Given the description of an element on the screen output the (x, y) to click on. 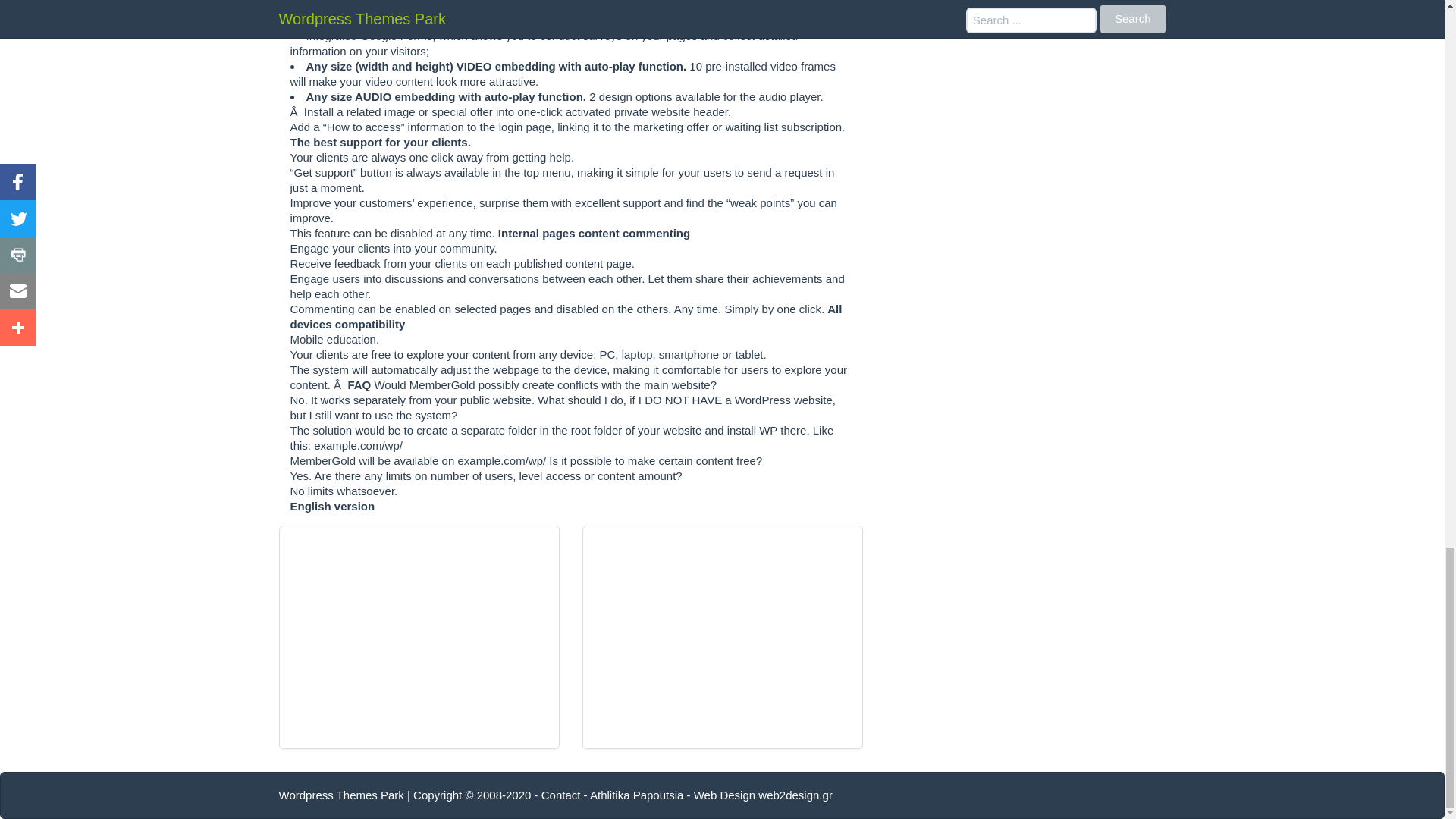
Wordpress Themes Park (341, 794)
Contact (560, 794)
Web Design (724, 794)
Athlitika Papoutsia (635, 794)
Athlitika Papoutsia (635, 794)
